Given the description of an element on the screen output the (x, y) to click on. 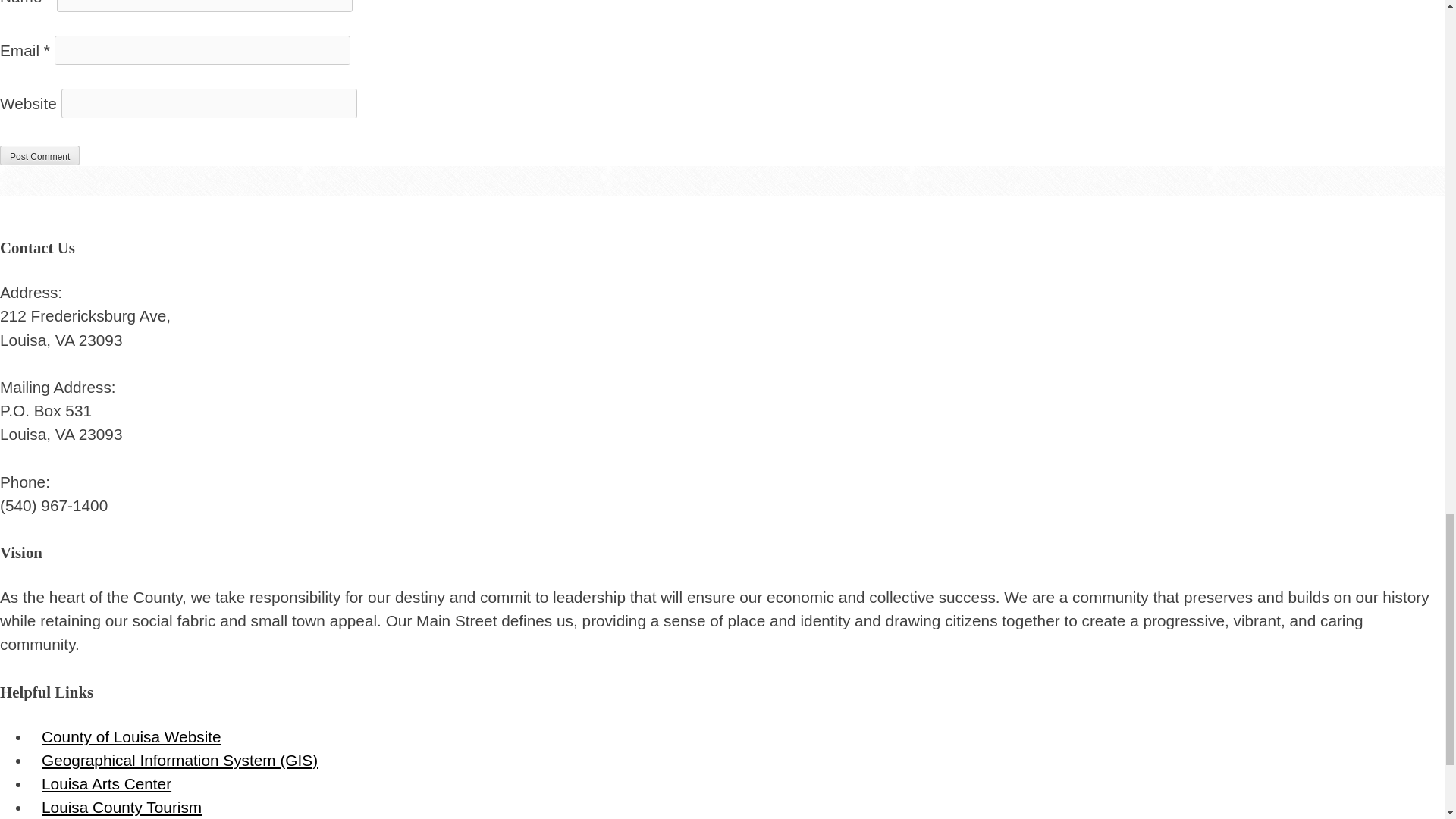
Post Comment (40, 155)
County of Louisa Website (131, 736)
Post Comment (40, 155)
Louisa County Tourism (121, 806)
Louisa Arts Center (106, 783)
